Given the description of an element on the screen output the (x, y) to click on. 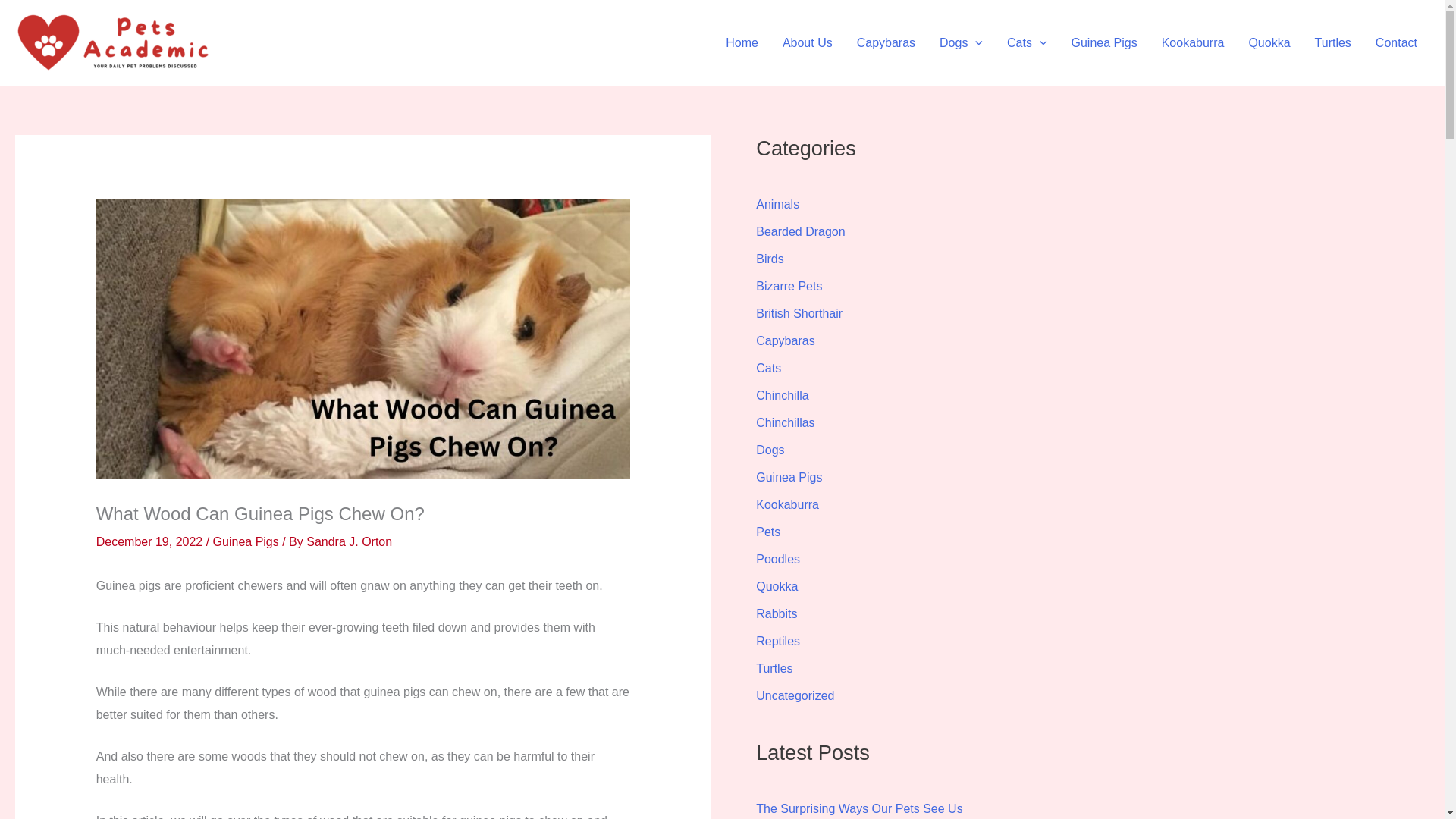
Quokka (1268, 42)
About Us (807, 42)
Cats (1026, 42)
Contact (1395, 42)
Guinea Pigs (1104, 42)
Guinea Pigs (245, 541)
Home (741, 42)
View all posts by Sandra J. Orton (348, 541)
Kookaburra (1193, 42)
Dogs (960, 42)
